Given the description of an element on the screen output the (x, y) to click on. 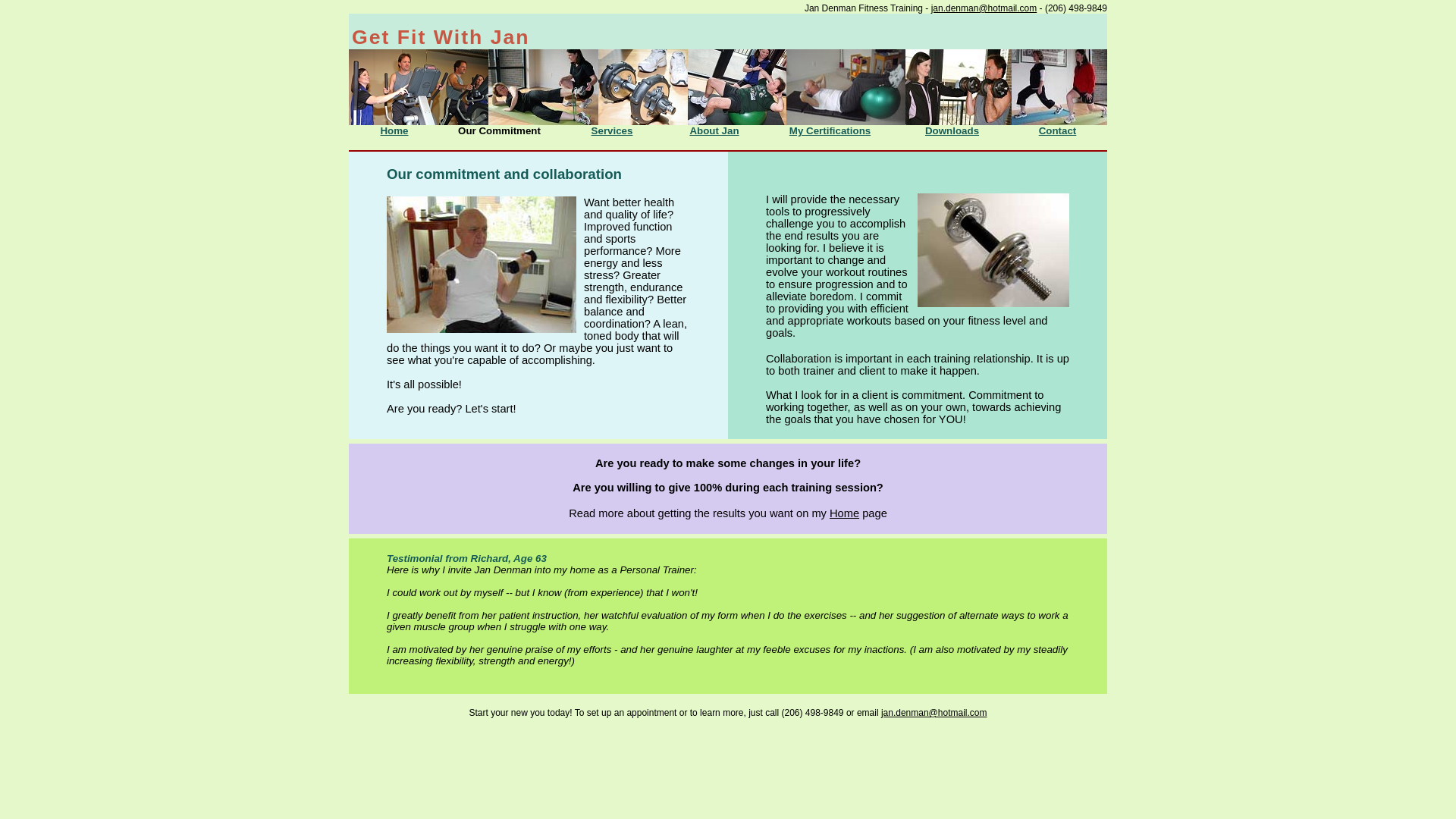
Click to send email to Jan (933, 712)
Services (612, 130)
Click to send email to Jan (983, 8)
About Jan (713, 130)
Contact (1058, 130)
My Certifications (829, 130)
Home (393, 130)
Downloads (951, 130)
Home (844, 512)
